Given the description of an element on the screen output the (x, y) to click on. 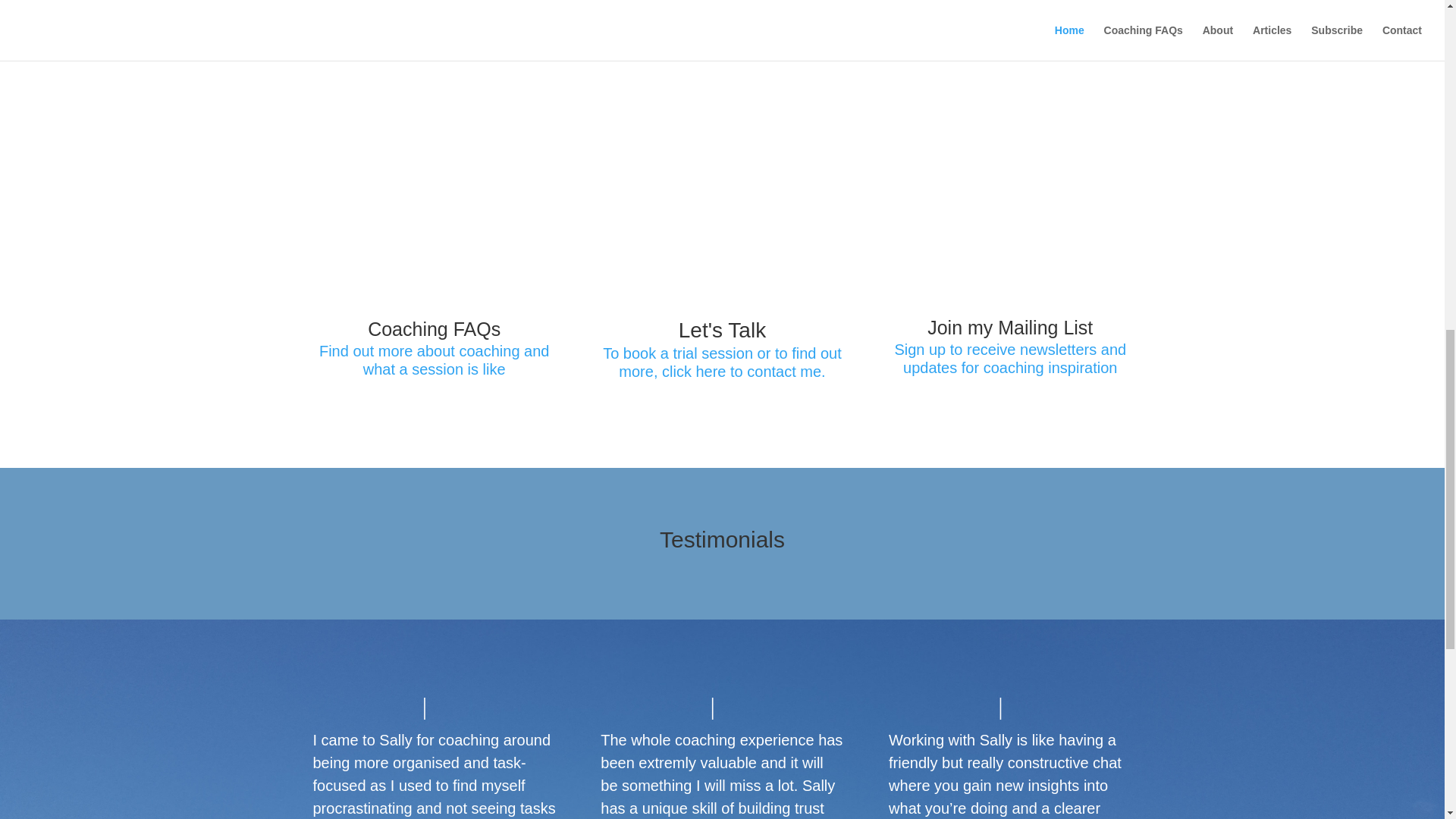
Find out more about coaching and what a session is like (434, 360)
Join my Mailing List (1010, 327)
Let's Talk (721, 330)
Coaching FAQs (434, 328)
